Given the description of an element on the screen output the (x, y) to click on. 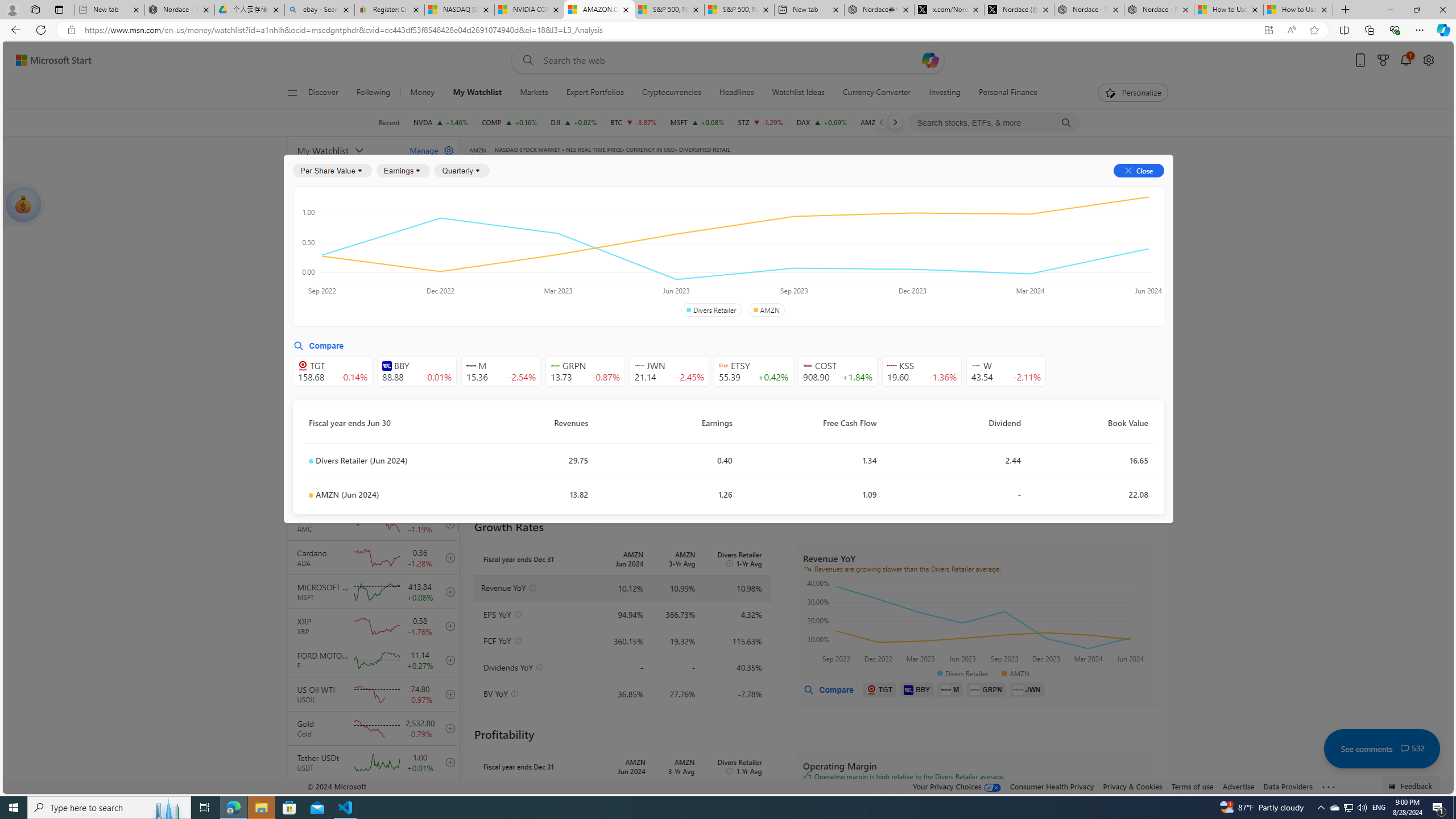
App available. Install Start Money (1268, 29)
Money (422, 92)
M (950, 689)
Search stocks, ETFs, & more (995, 122)
DAX DAX increase 18,811.34 +129.53 +0.69% (821, 122)
Investing (944, 92)
Consumer Health Privacy (1051, 785)
How to Use a Monitor With Your Closed Laptop (1297, 9)
remove from your watchlist (447, 283)
Cash Flow (663, 223)
My Watchlist (477, 92)
Advertise (1238, 785)
Register: Create a personal eBay account (389, 9)
